Given the description of an element on the screen output the (x, y) to click on. 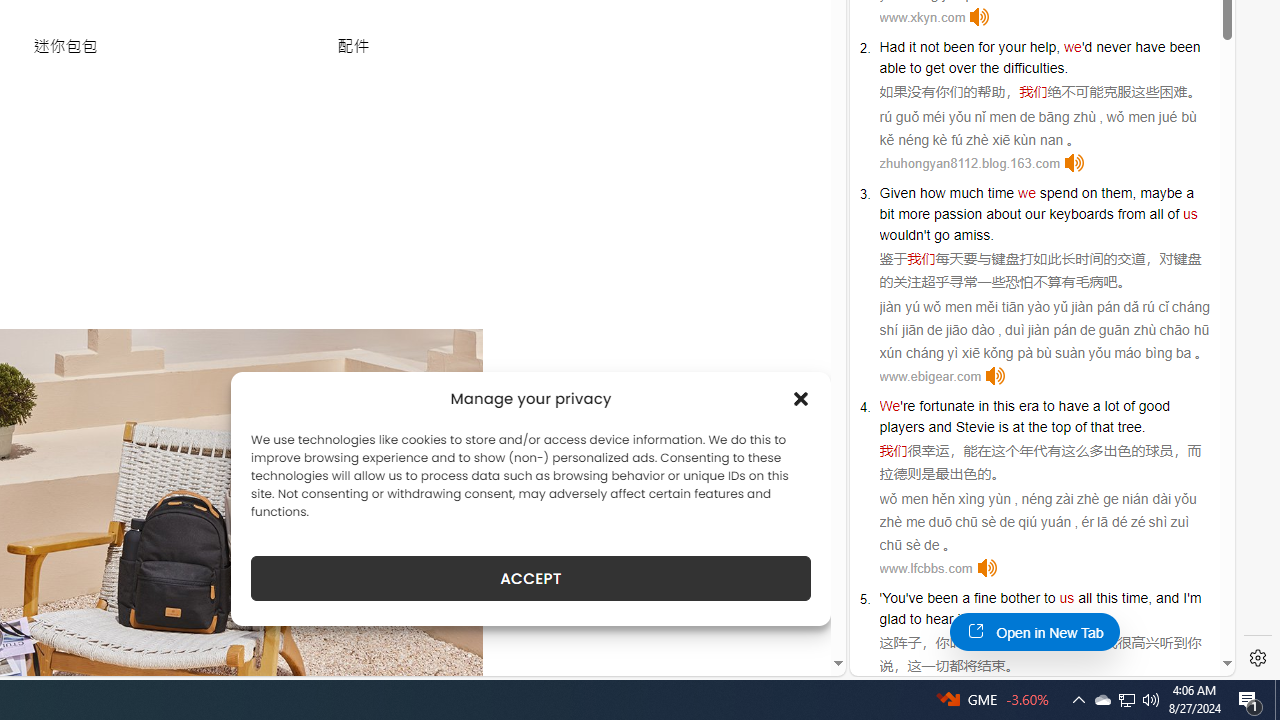
help (1043, 46)
is (1003, 426)
not (929, 46)
players (902, 426)
era (1028, 405)
on (1089, 192)
top (1060, 426)
spend (1058, 192)
more (914, 213)
